Given the description of an element on the screen output the (x, y) to click on. 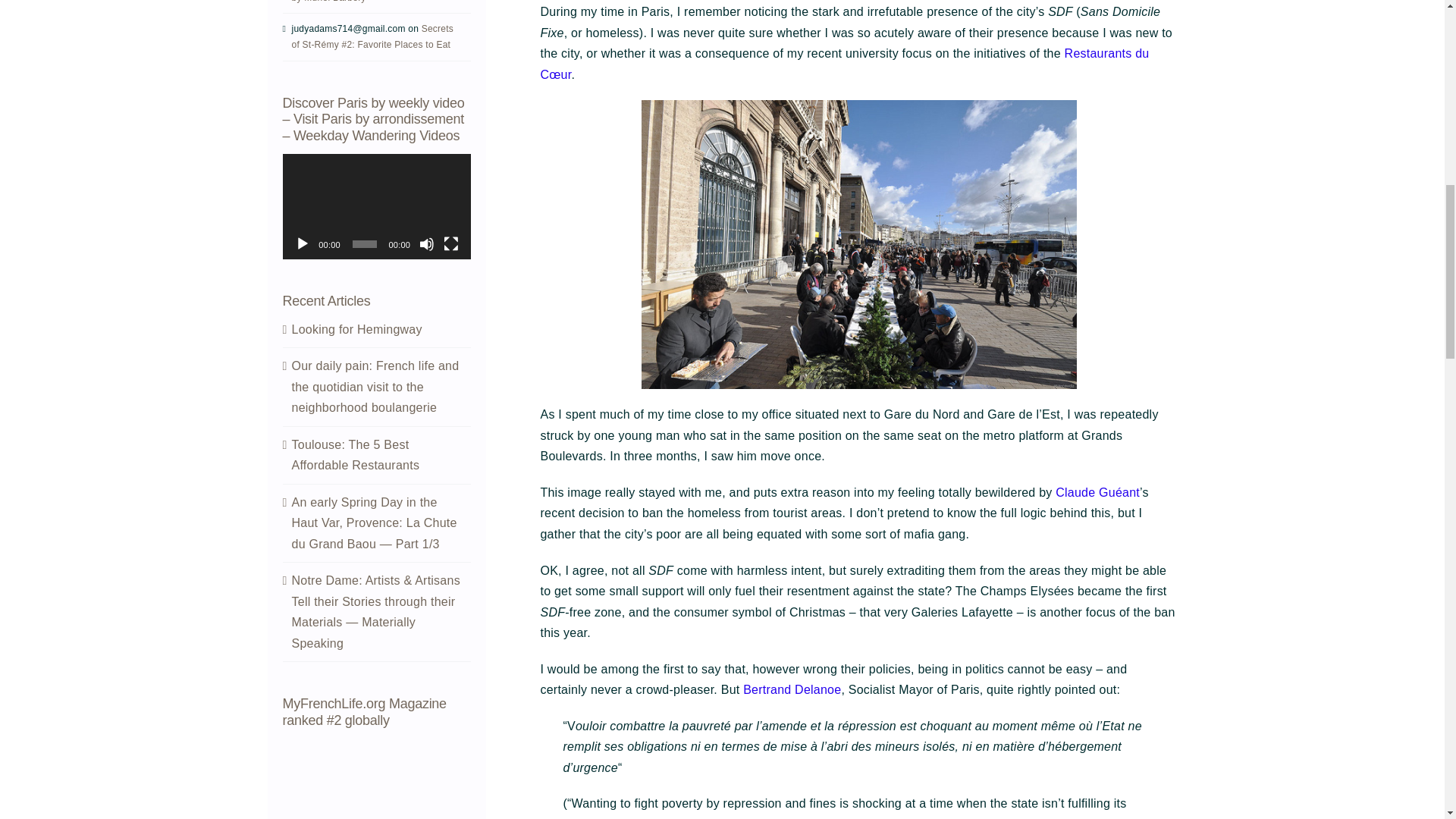
Bertrand Delanoe (791, 689)
Read more about the Restos here (844, 63)
For more on the Mayor, click on the link (791, 689)
